Given the description of an element on the screen output the (x, y) to click on. 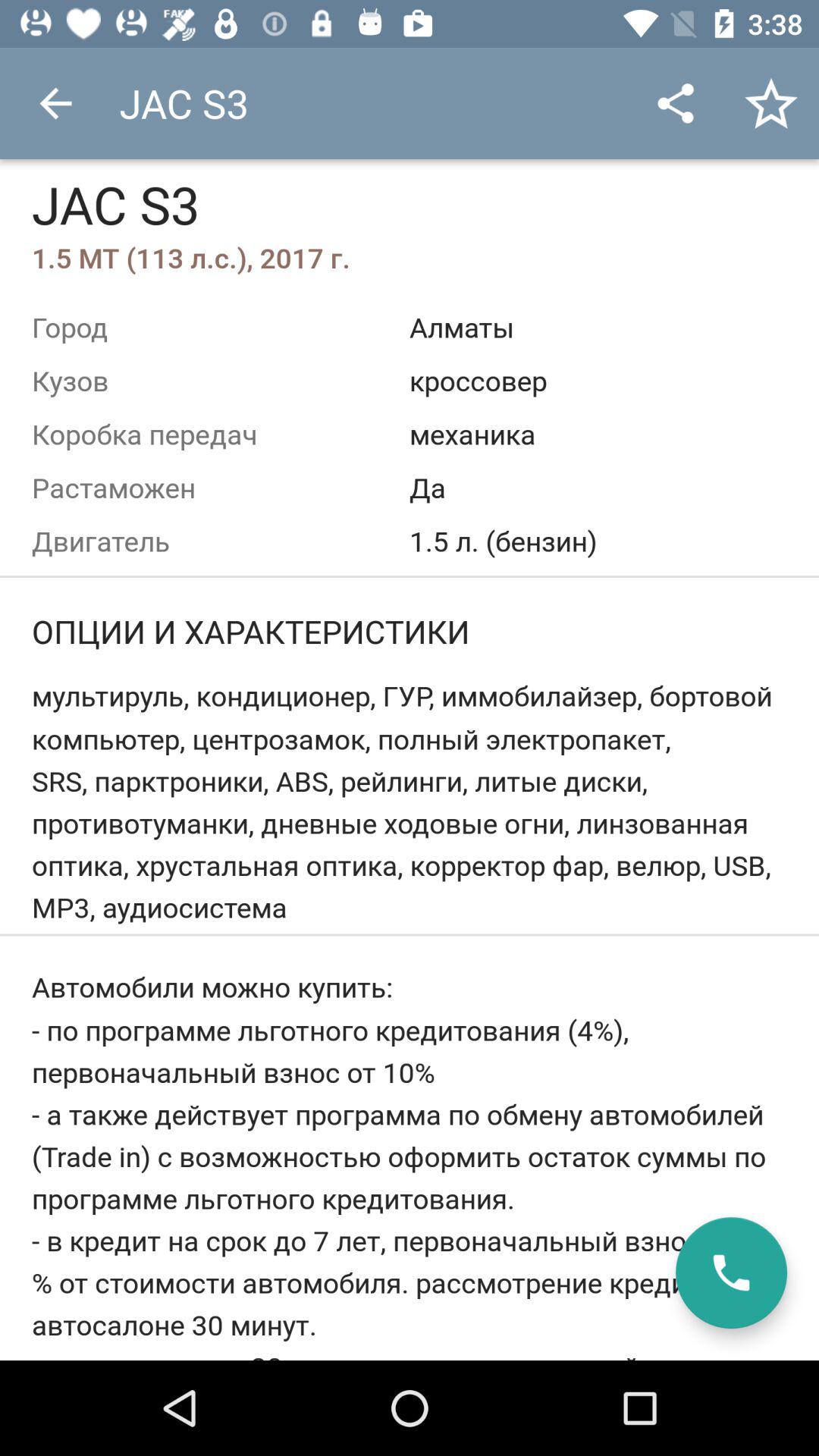
click the app next to the jac s3 app (675, 103)
